Given the description of an element on the screen output the (x, y) to click on. 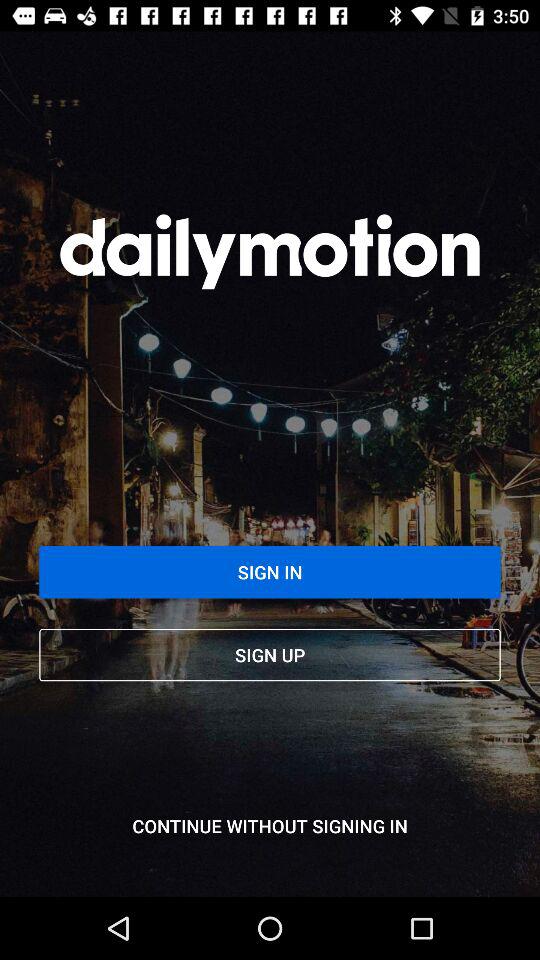
turn off the sign in item (269, 571)
